Given the description of an element on the screen output the (x, y) to click on. 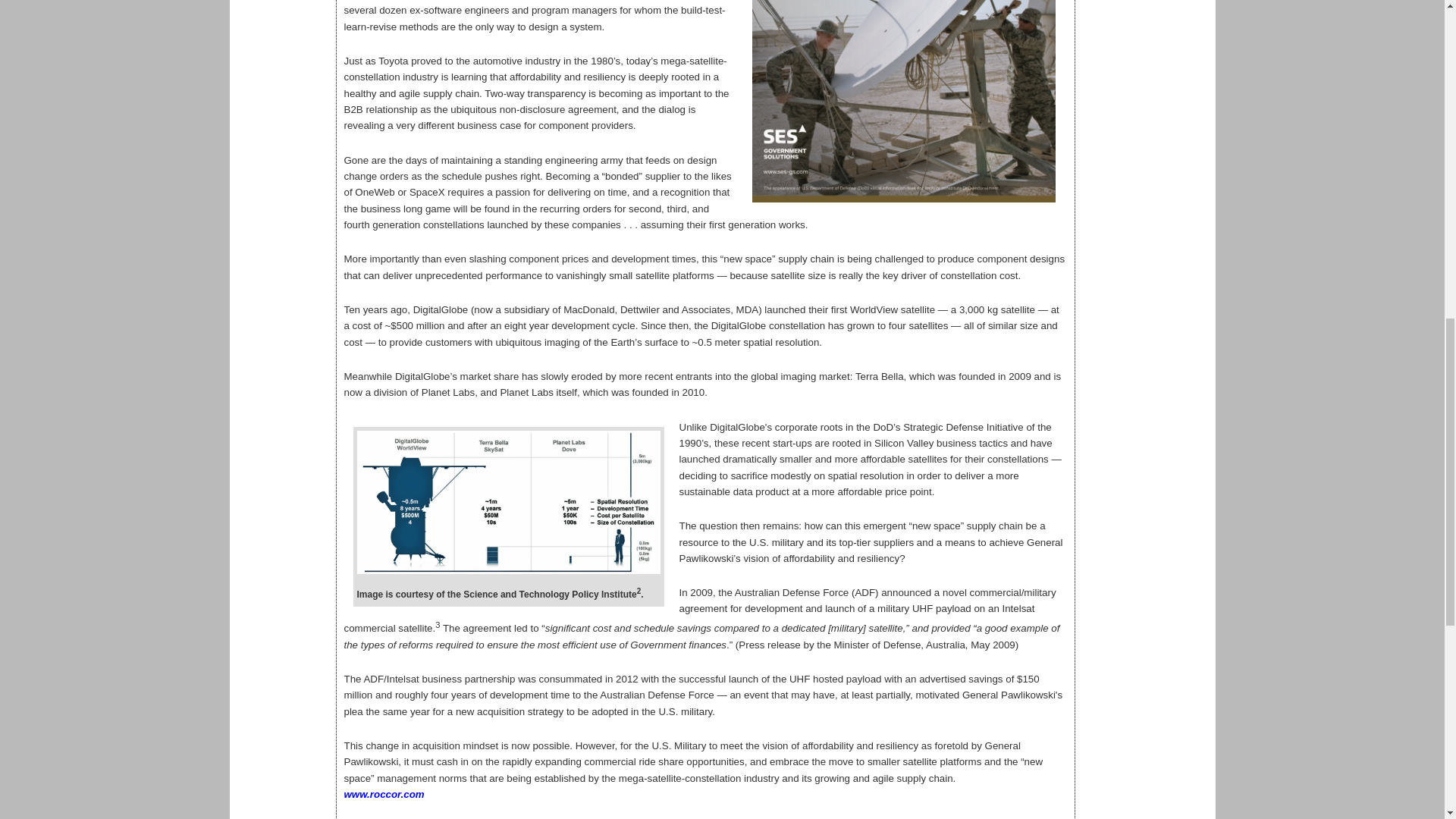
www.roccor.com (384, 794)
